Given the description of an element on the screen output the (x, y) to click on. 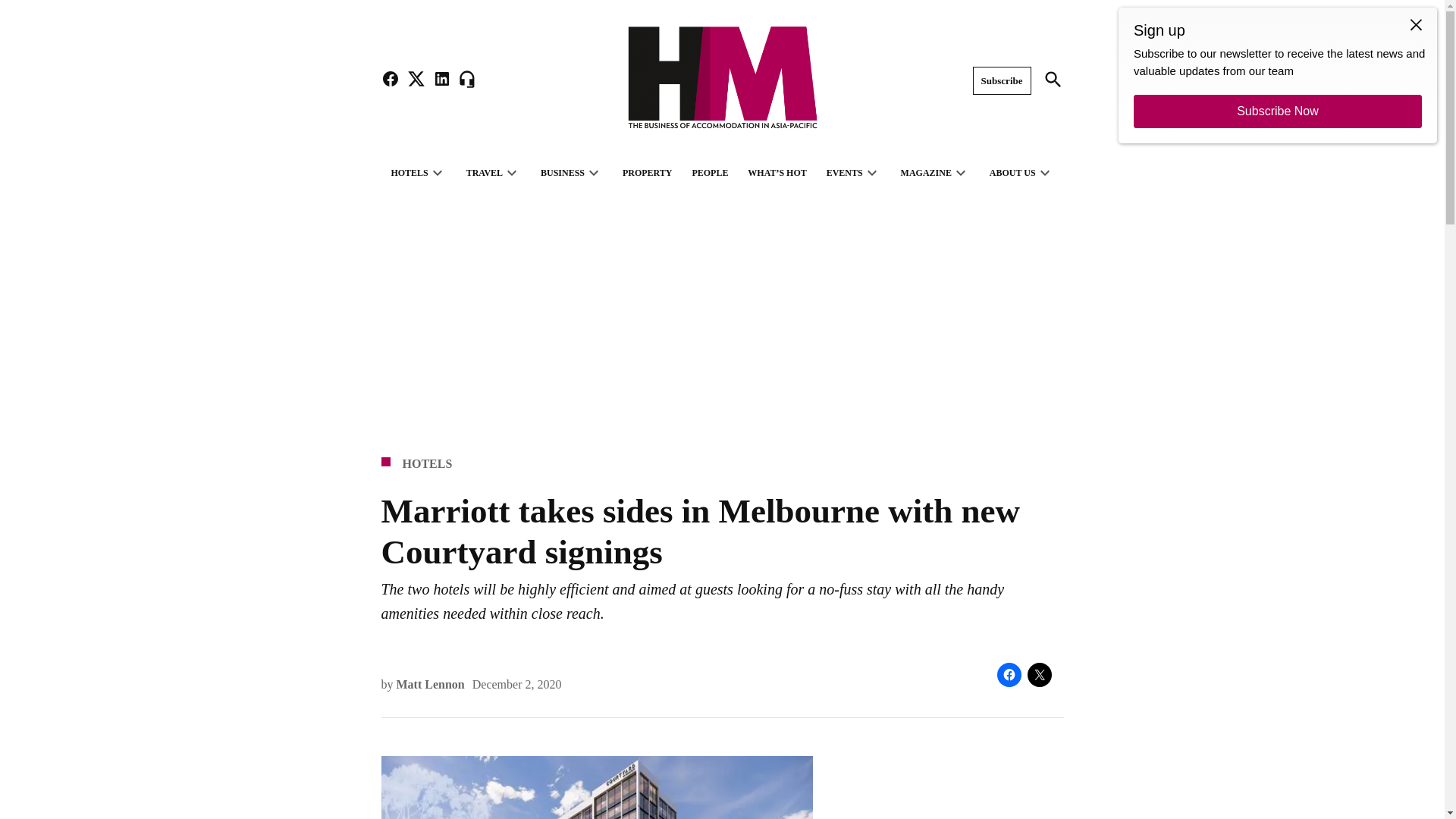
Click to share on Facebook (1007, 674)
3rd party ad content (956, 787)
Popup CTA (1277, 75)
Click to share on X (1038, 674)
